Given the description of an element on the screen output the (x, y) to click on. 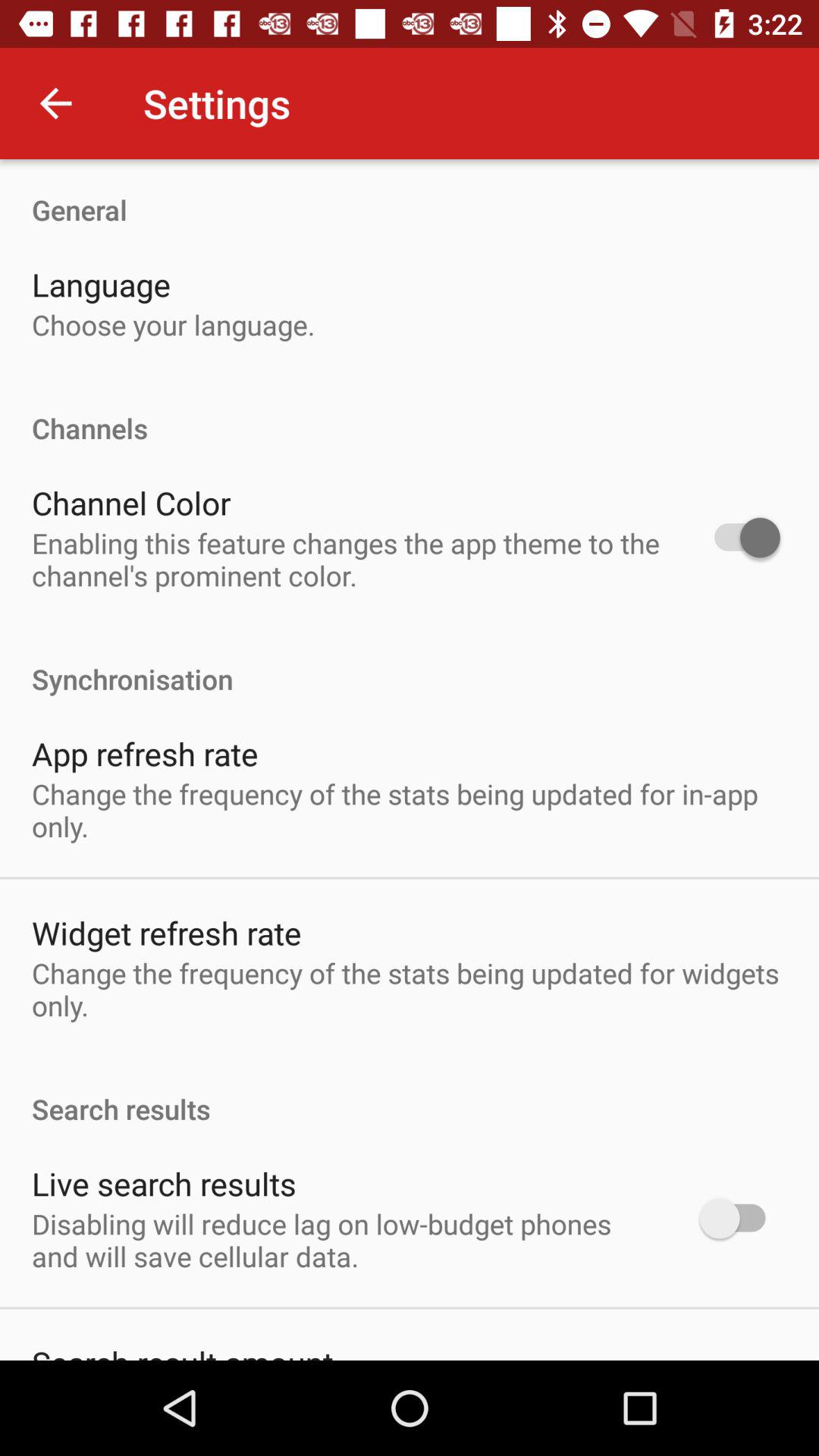
tap choose your language. icon (173, 324)
